Given the description of an element on the screen output the (x, y) to click on. 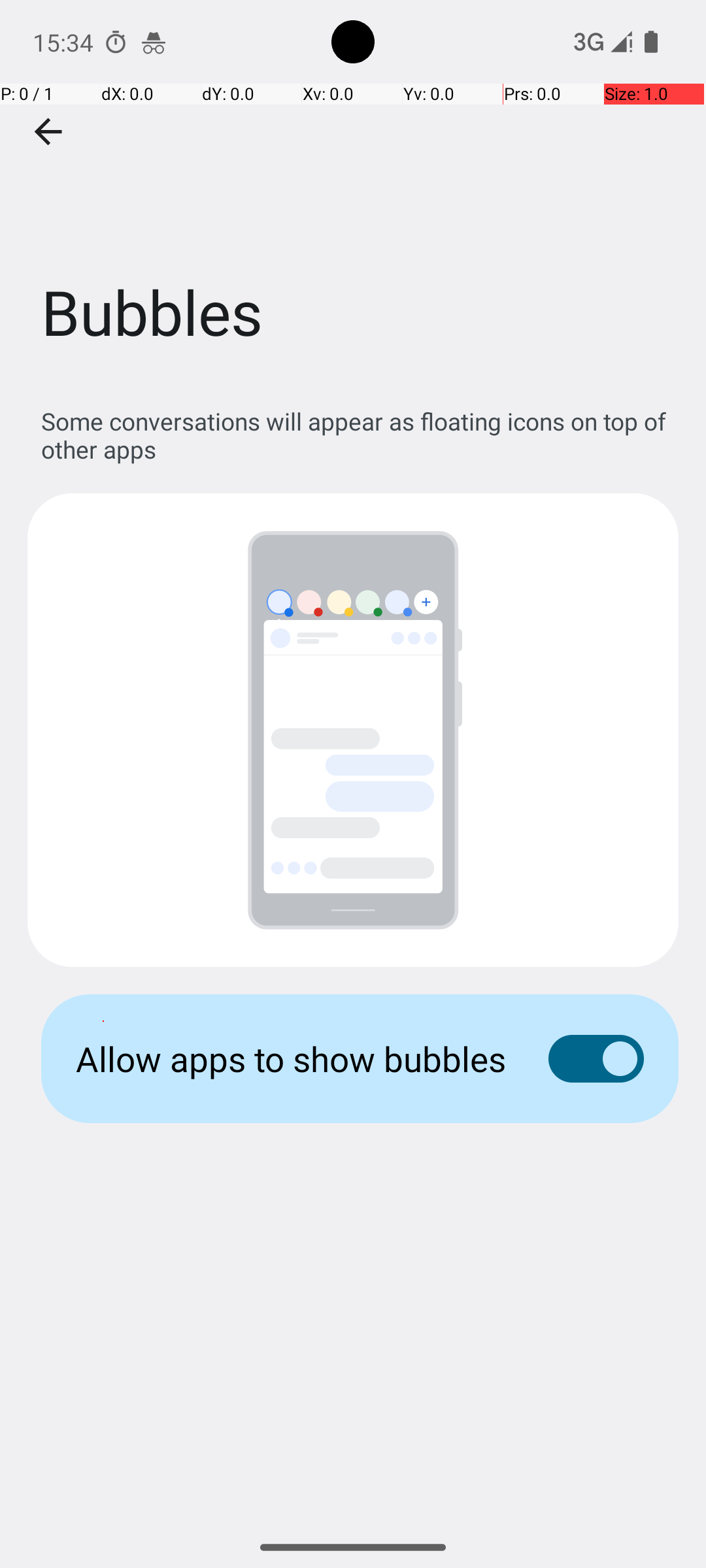
Some conversations will appear as floating icons on top of other apps Element type: android.widget.TextView (359, 434)
Allow apps to show bubbles Element type: android.widget.TextView (291, 1058)
